Given the description of an element on the screen output the (x, y) to click on. 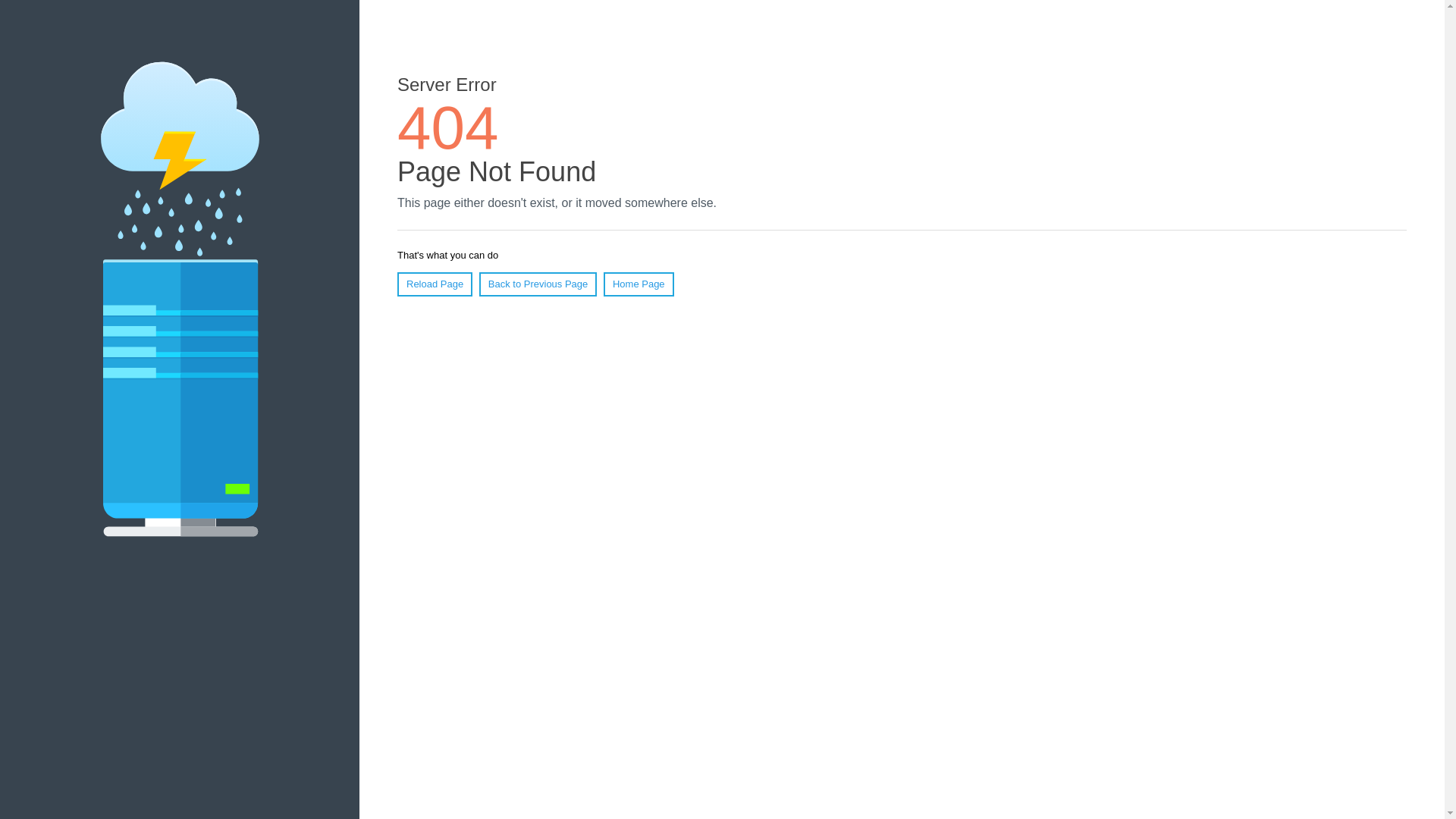
Reload Page Element type: text (434, 284)
Home Page Element type: text (638, 284)
Back to Previous Page Element type: text (538, 284)
